Given the description of an element on the screen output the (x, y) to click on. 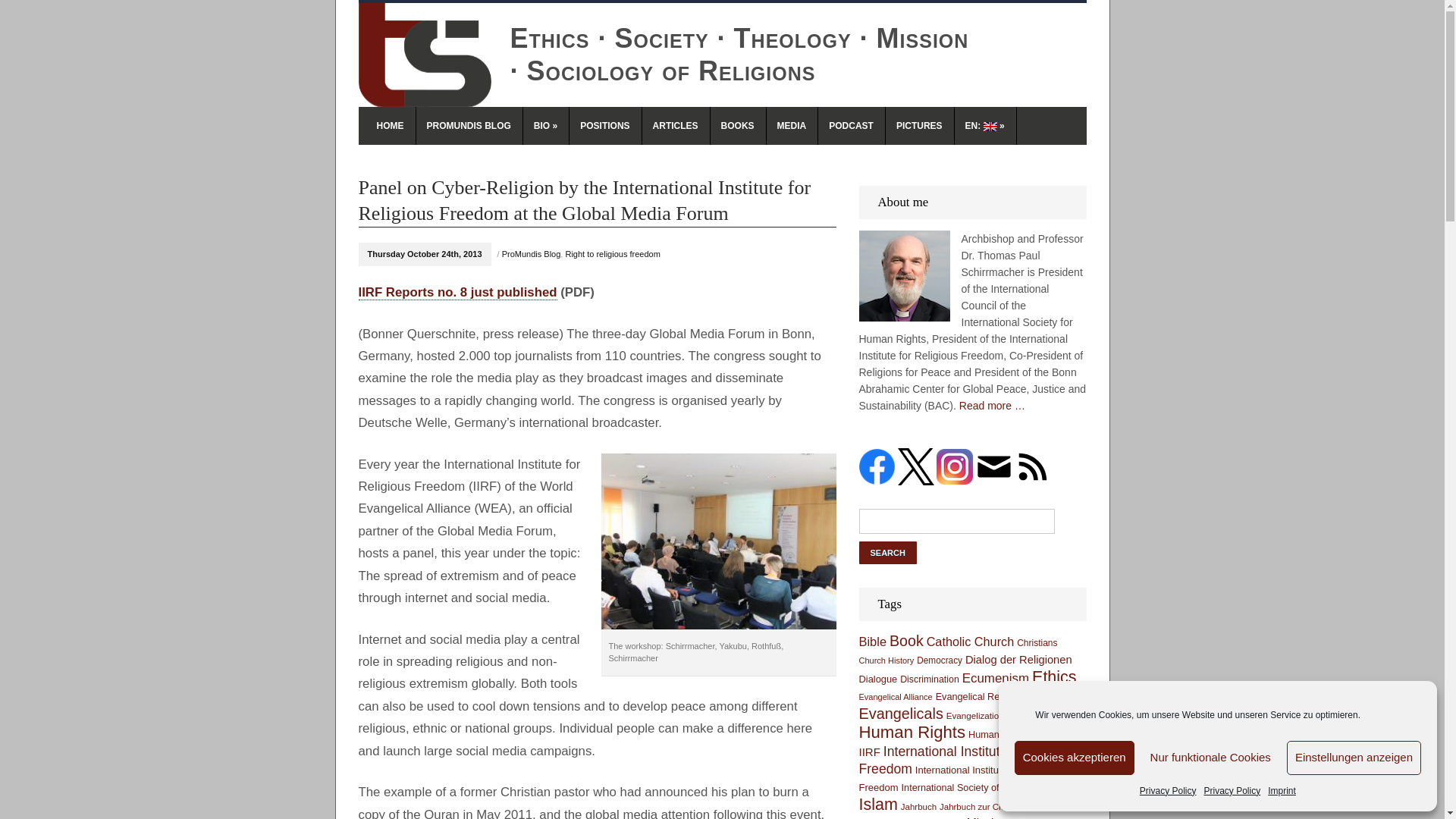
PODCAST (851, 125)
Nur funktionale Cookies (1210, 757)
ProMundis Blog (531, 253)
Right to religious freedom (611, 253)
Thomas Paul Schirrmacher at twitter (916, 465)
Privacy Policy (1232, 790)
BOOKS (737, 125)
Cookies akzeptieren (1074, 757)
Search (887, 552)
Thomas Schirrmacher on Instagram (954, 465)
HOME (389, 125)
Imprint (1281, 790)
MEDIA (792, 125)
Privacy Policy (1168, 790)
IIRF Reports no. 8 just published (457, 292)
